Given the description of an element on the screen output the (x, y) to click on. 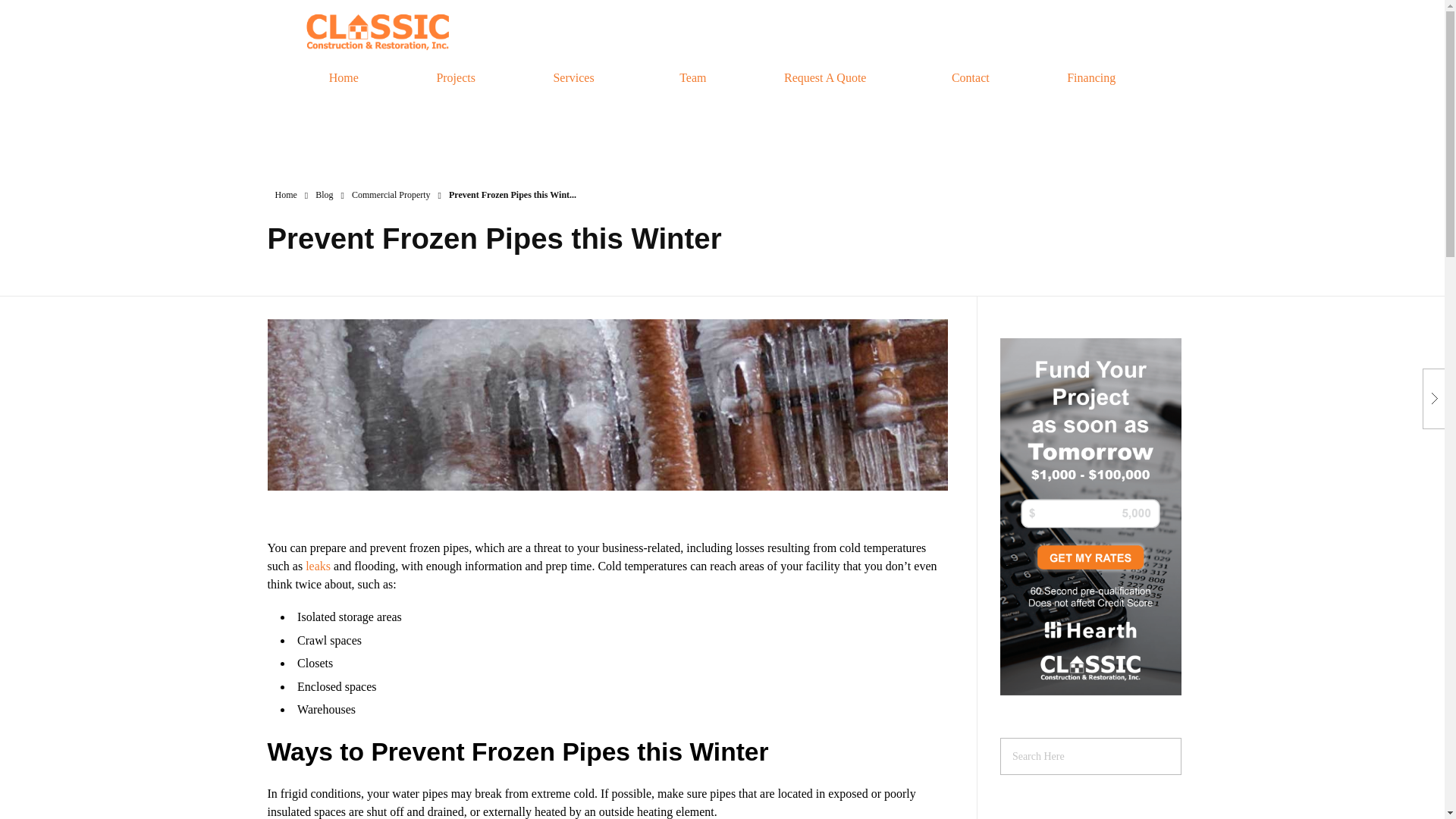
Financing (1090, 78)
leaks (317, 565)
Services (576, 78)
Home (286, 194)
Home (343, 78)
Blog (324, 194)
Home (286, 194)
Team (692, 78)
Contact (969, 78)
Projects (455, 78)
